Given the description of an element on the screen output the (x, y) to click on. 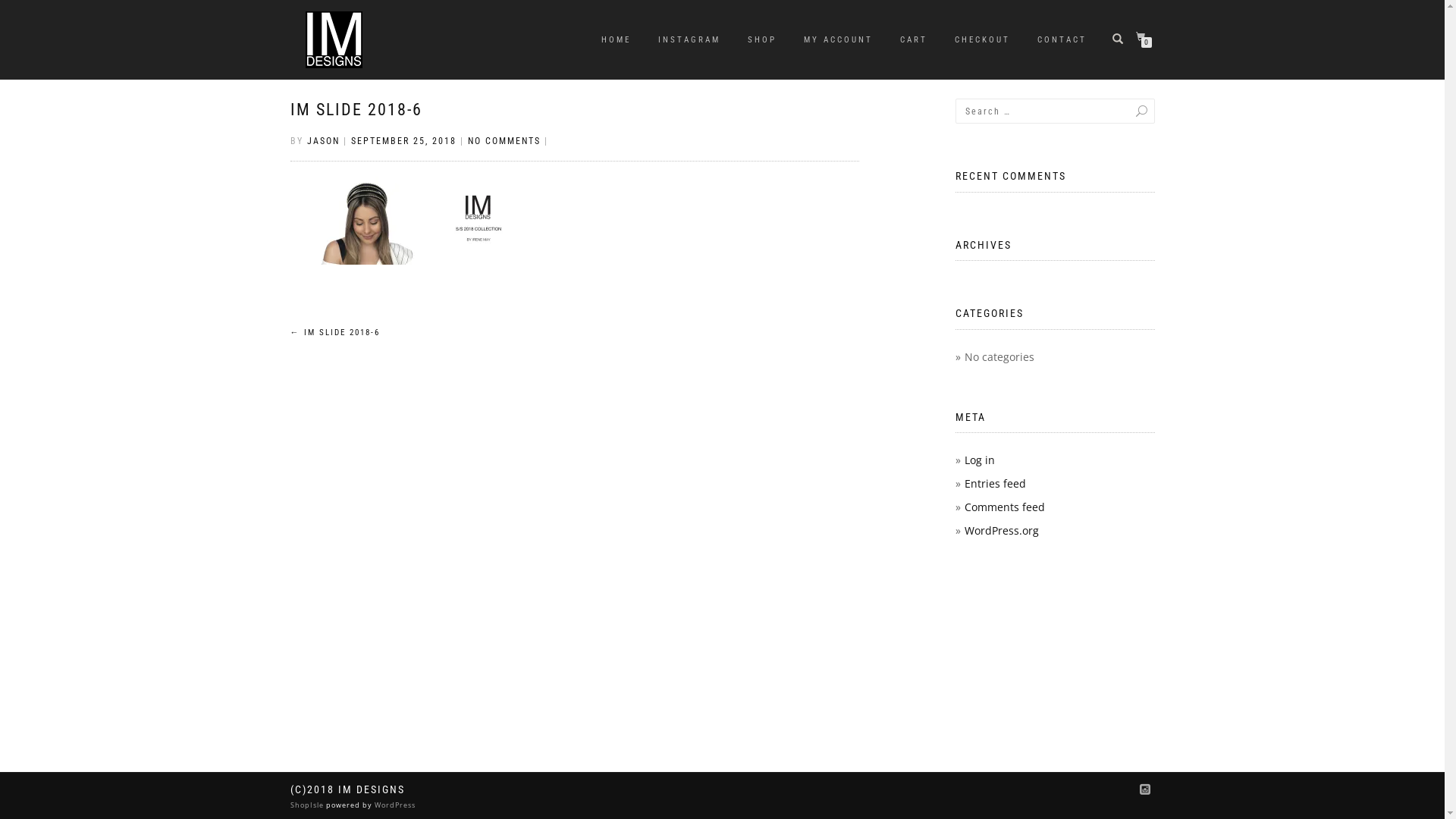
SEPTEMBER 25, 2018 Element type: text (402, 140)
MY ACCOUNT Element type: text (837, 40)
INSTAGRAM Element type: text (688, 40)
HOME Element type: text (615, 40)
NO COMMENTS Element type: text (503, 140)
Log in Element type: text (979, 459)
CONTACT Element type: text (1061, 40)
SHOP Element type: text (761, 40)
0 Element type: text (1143, 37)
CART Element type: text (913, 40)
WordPress.org Element type: text (1001, 530)
WordPress Element type: text (392, 804)
Search Element type: text (1126, 110)
IM SLIDE 2018-6 Element type: text (355, 109)
Entries feed Element type: text (995, 483)
JASON Element type: text (322, 140)
CHECKOUT Element type: text (982, 40)
ShopIsle Element type: text (307, 804)
Comments feed Element type: text (1004, 506)
